Given the description of an element on the screen output the (x, y) to click on. 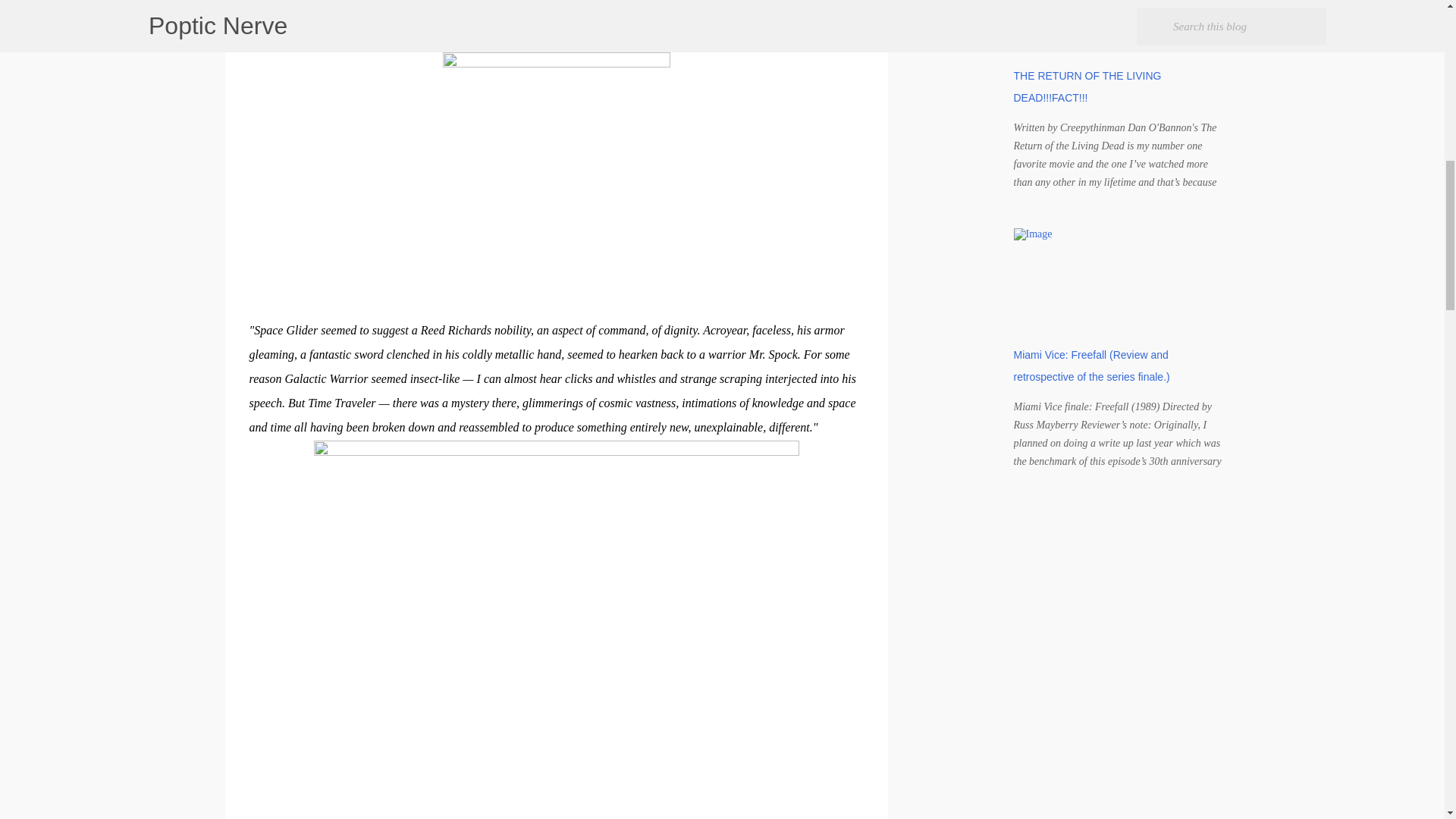
THE RETURN OF THE LIVING DEAD!!!FACT!!! (1086, 86)
